Given the description of an element on the screen output the (x, y) to click on. 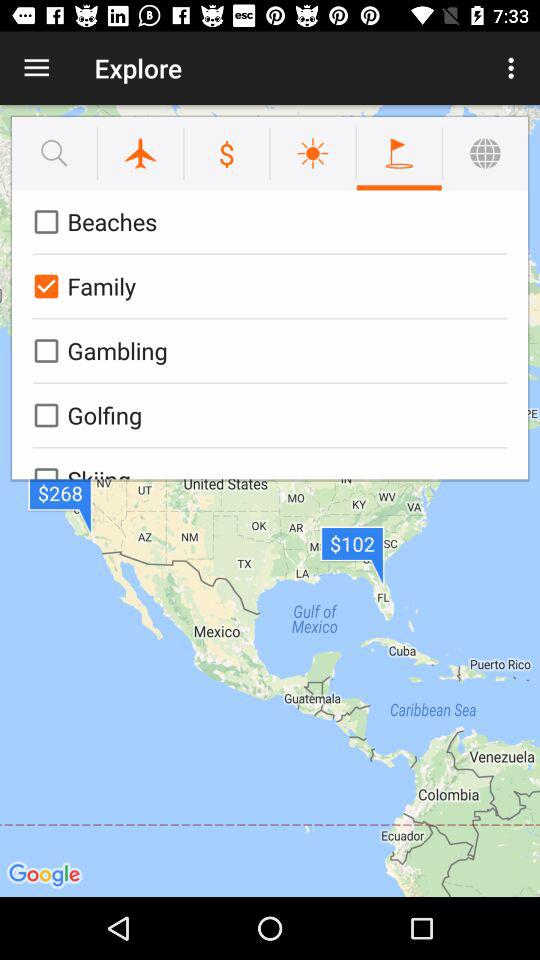
choose item next to the explore item (36, 68)
